Given the description of an element on the screen output the (x, y) to click on. 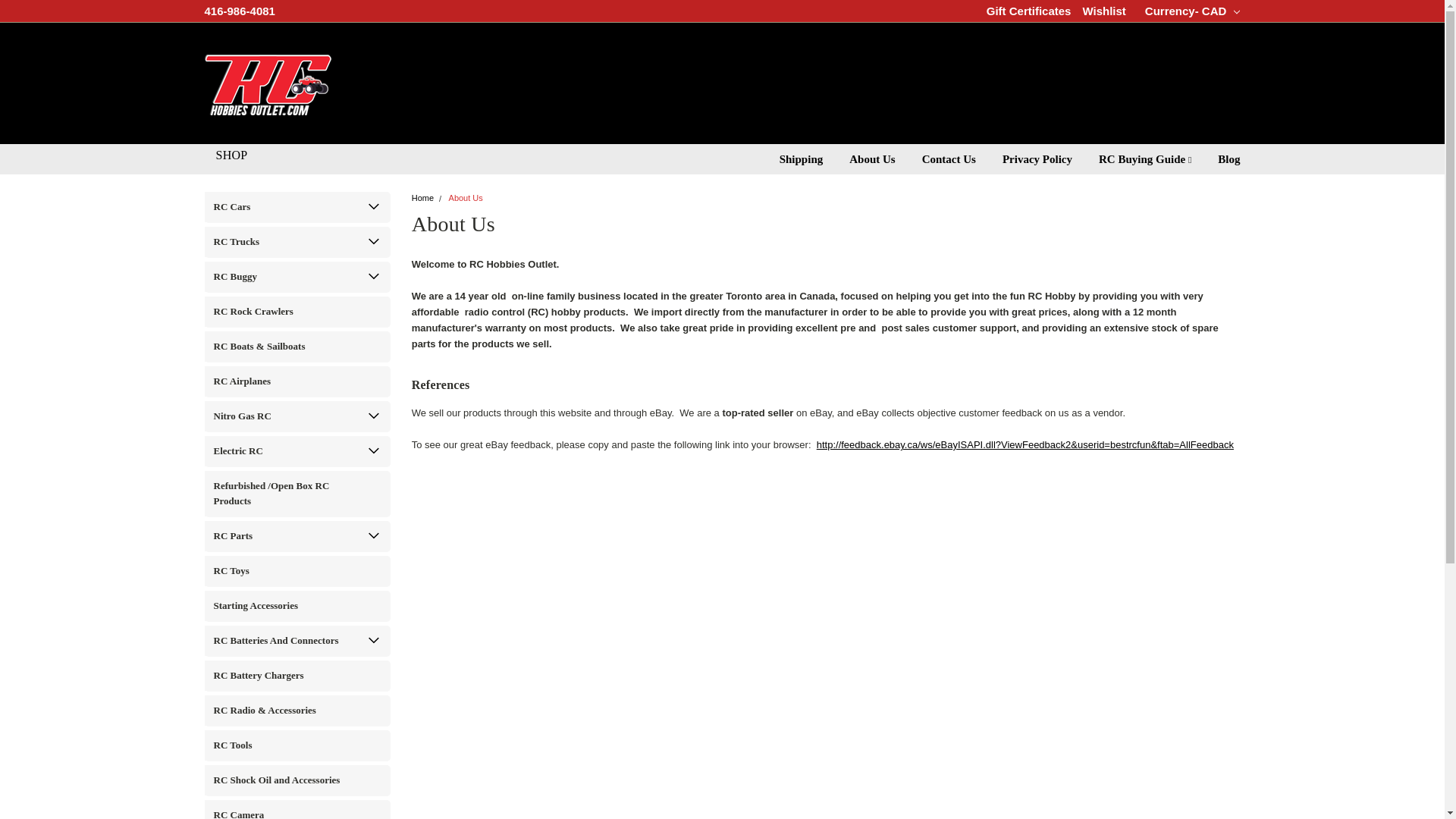
Gift Certificates (1029, 10)
416-986-4081 (240, 10)
rchobbiesoutlet (268, 83)
Currency- CAD (1188, 11)
Wishlist (1103, 10)
